Given the description of an element on the screen output the (x, y) to click on. 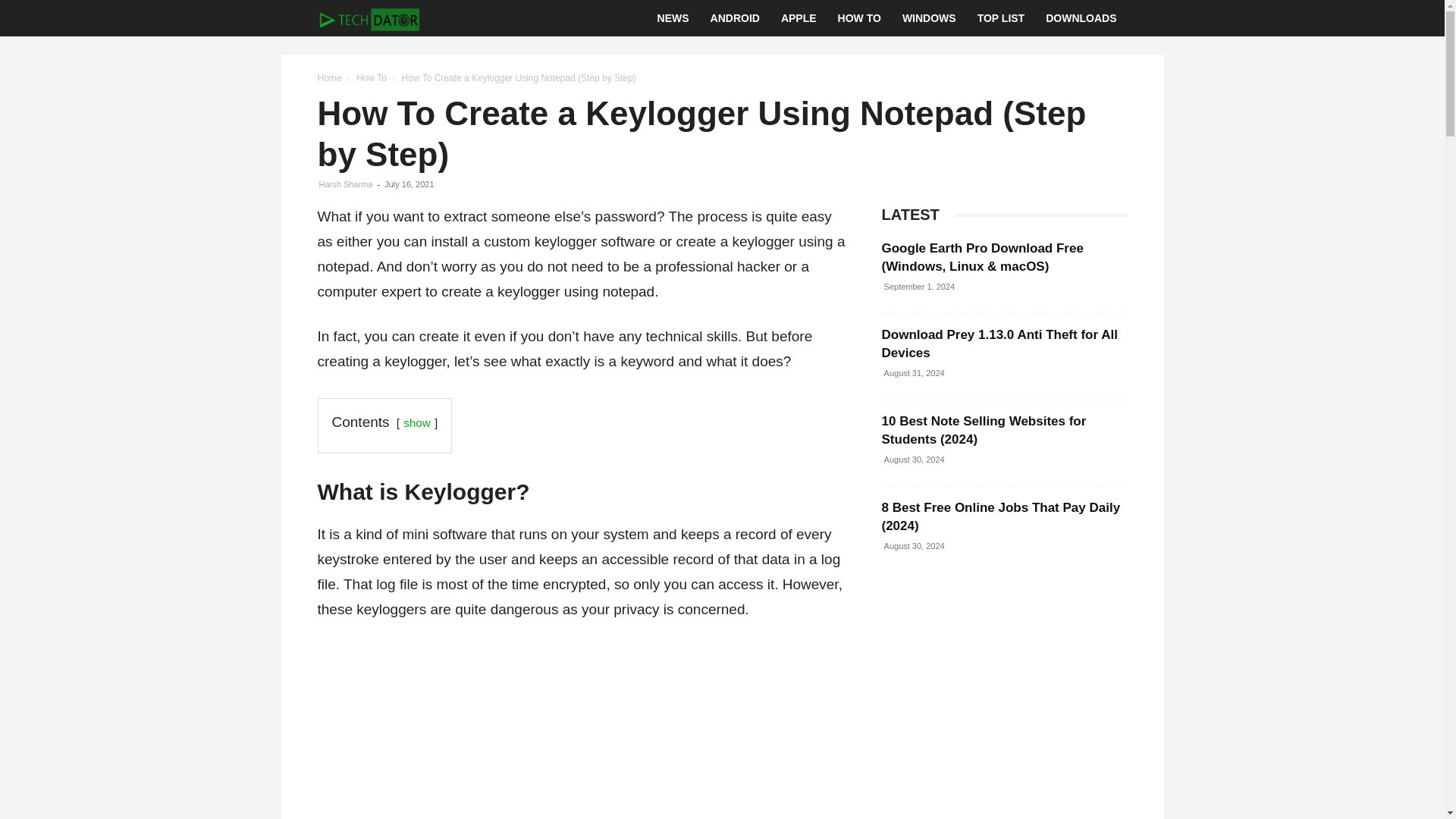
TechDator (368, 18)
ANDROID (735, 18)
show (416, 422)
NEWS (673, 18)
TOP LIST (1000, 18)
DOWNLOADS (1080, 18)
APPLE (798, 18)
View all posts in How To (371, 77)
TechDator (368, 18)
How To (371, 77)
